Given the description of an element on the screen output the (x, y) to click on. 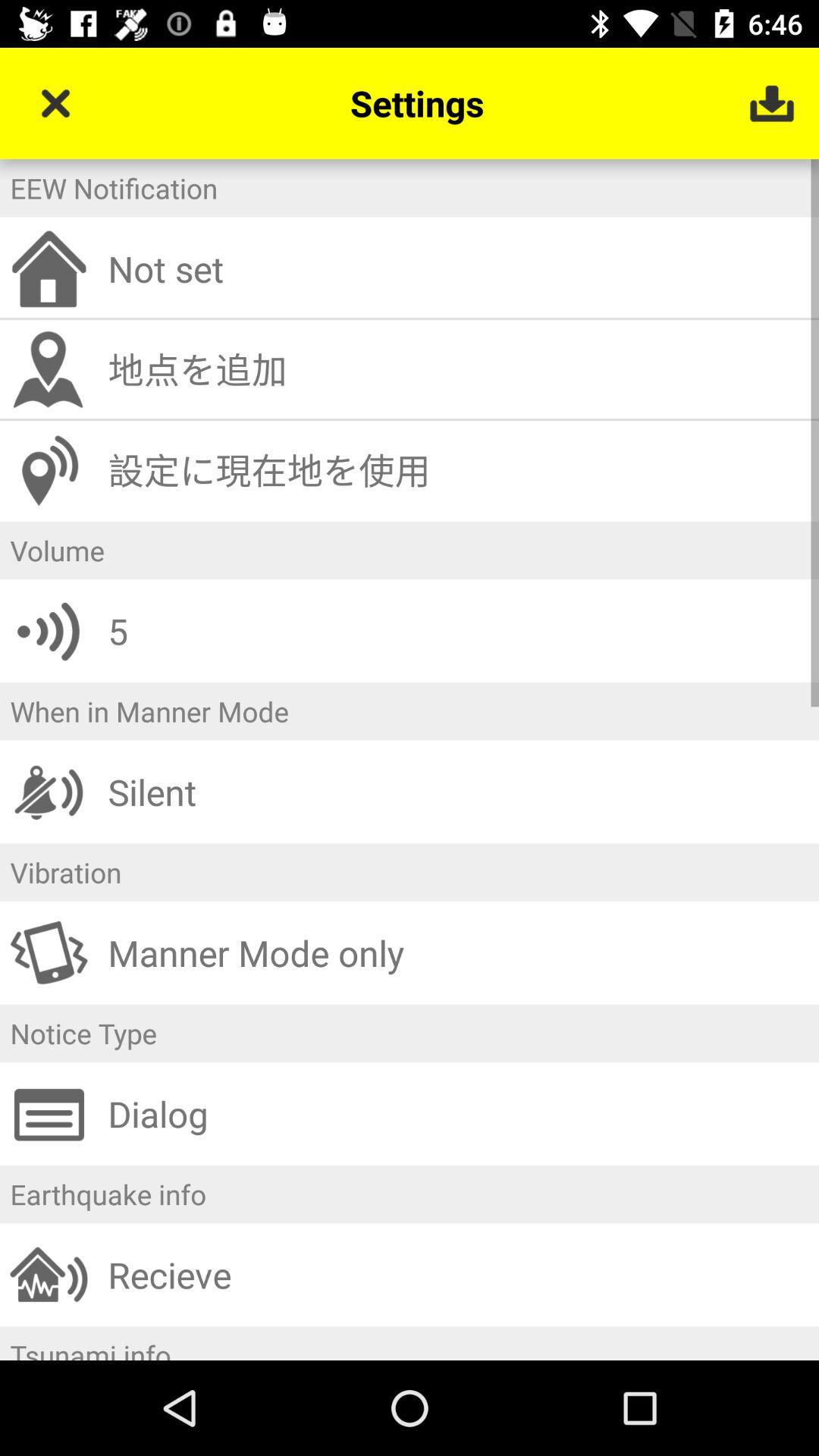
turn on icon to the left of settings item (55, 103)
